Given the description of an element on the screen output the (x, y) to click on. 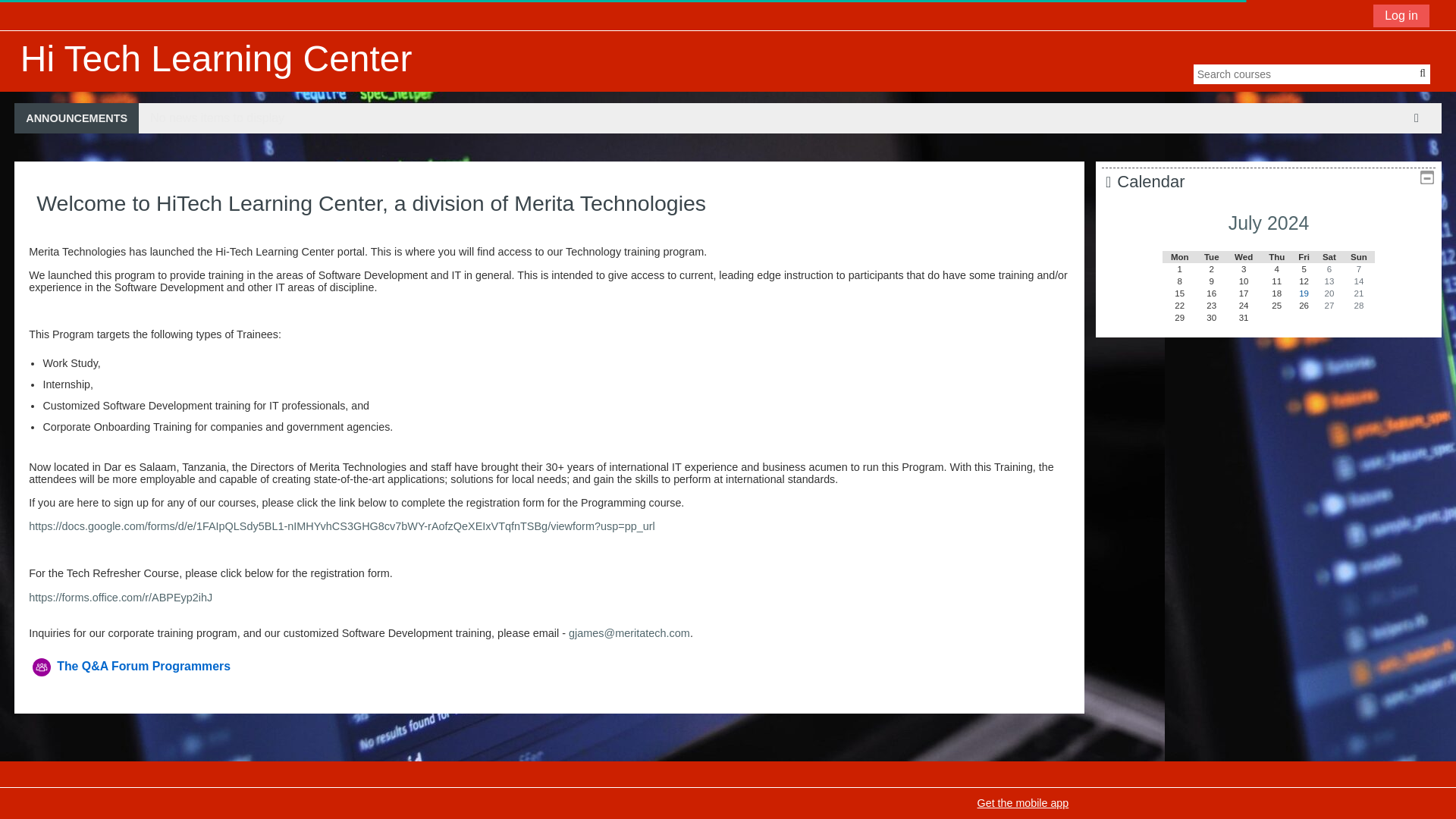
Hide Calendar block (1427, 177)
Get the mobile app (1022, 802)
July 2024 (1268, 222)
Search courses (1422, 72)
This month (1268, 222)
19 (1304, 293)
Log in (1401, 15)
Search courses (1422, 73)
